Given the description of an element on the screen output the (x, y) to click on. 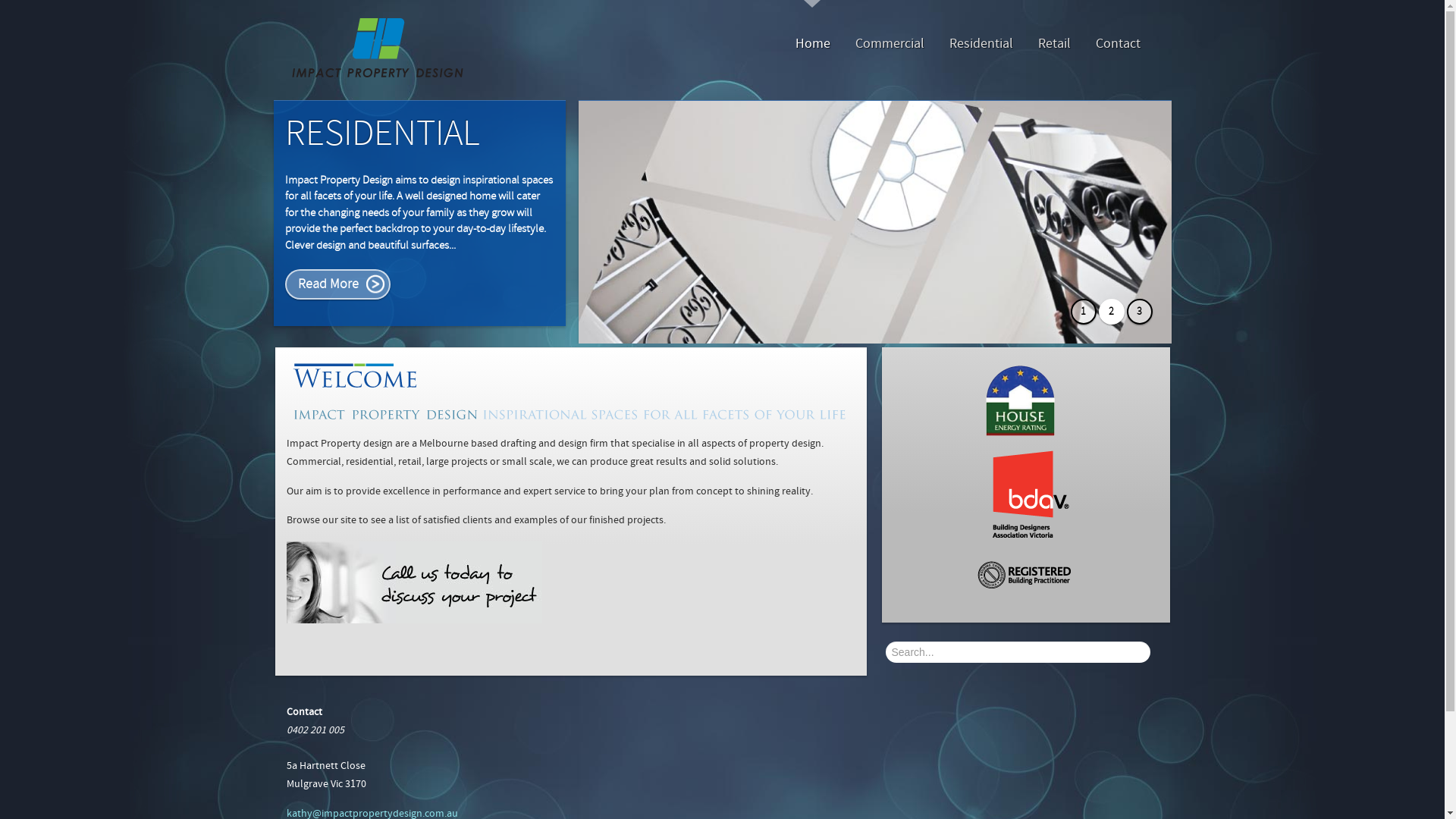
Home Element type: text (811, 43)
Retail Element type: text (1053, 43)
Commercial Element type: text (889, 43)
Residential Element type: text (981, 43)
Read More Element type: text (337, 284)
Contact Element type: text (1116, 43)
RESIDENTIAL Element type: text (382, 133)
